Given the description of an element on the screen output the (x, y) to click on. 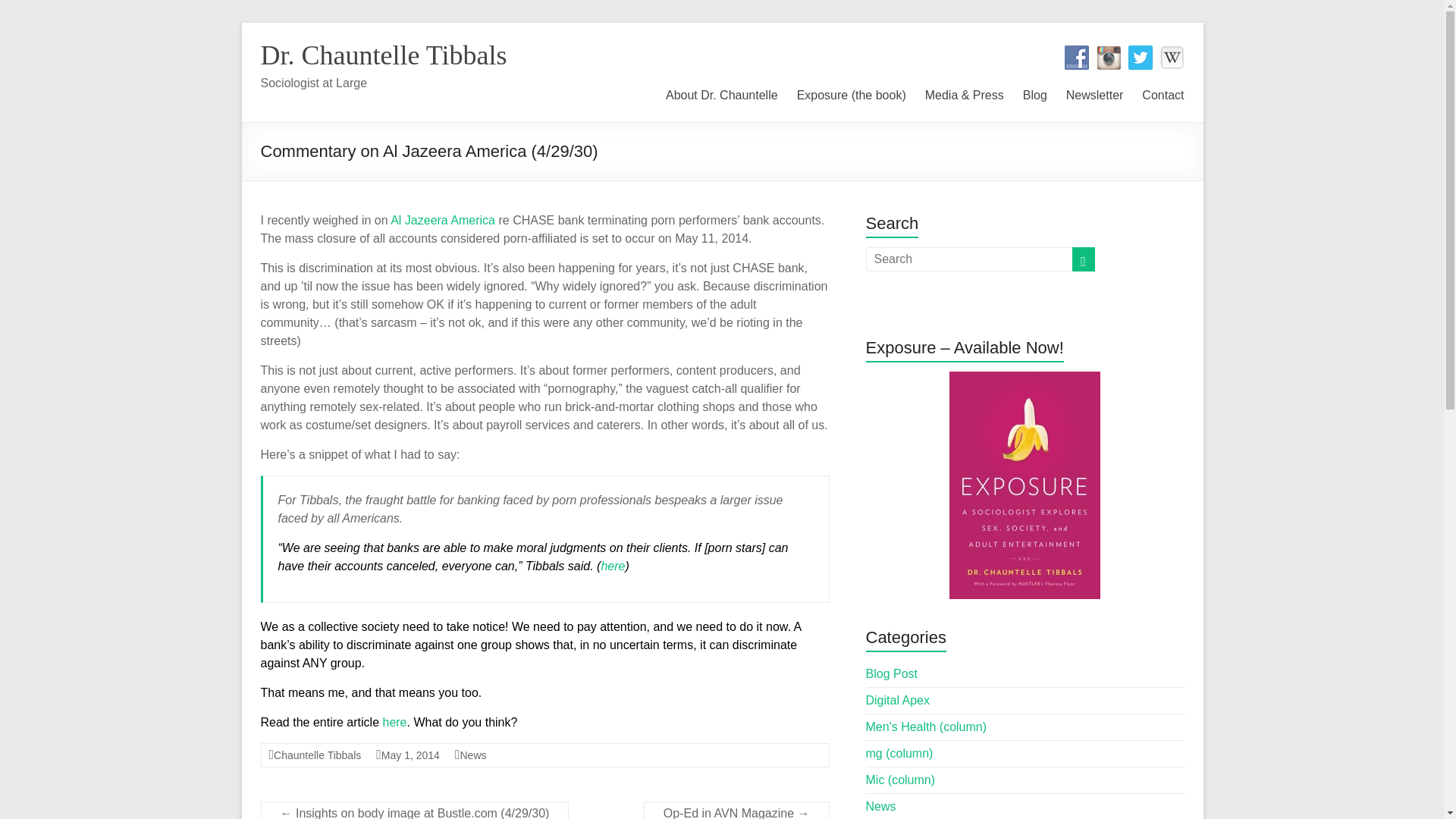
here (393, 721)
News (881, 806)
Visit me on Twitter (1140, 57)
News (473, 755)
Contact (1162, 93)
Dr. Chauntelle Tibbals (383, 55)
About Dr. Chauntelle (721, 93)
Chauntelle Tibbals (317, 755)
Search (38, 11)
Visit me on  (1172, 57)
Al Jazeera America (442, 219)
Digital Apex (898, 699)
3:52 am (410, 755)
Dr. Chauntelle Tibbals (383, 55)
Visit me on Instagram (1108, 57)
